Given the description of an element on the screen output the (x, y) to click on. 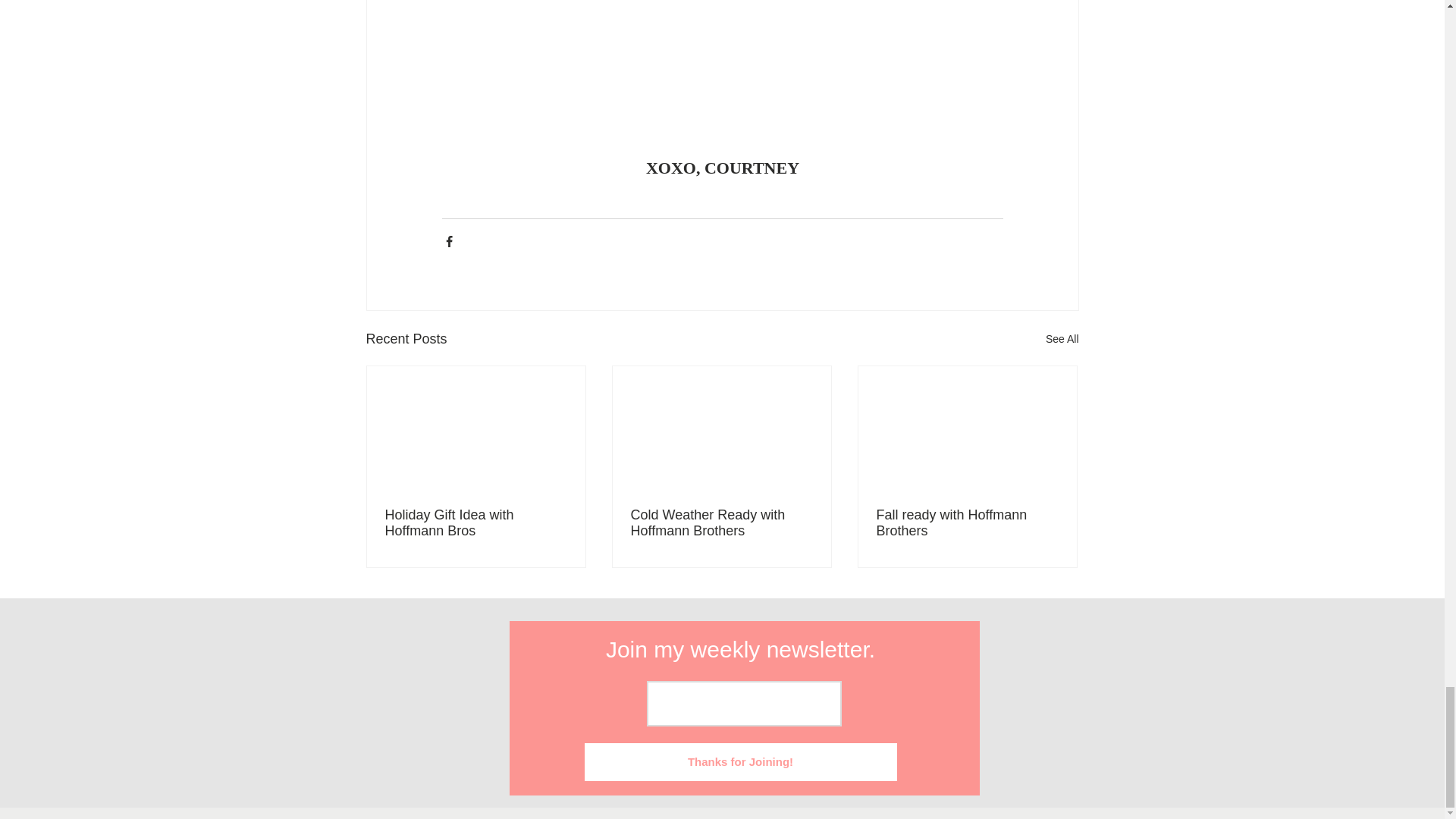
Thanks for Joining! (739, 761)
Holiday Gift Idea with Hoffmann Bros (476, 522)
Fall ready with Hoffmann Brothers (967, 522)
Cold Weather Ready with Hoffmann Brothers (721, 522)
See All (1061, 339)
